Given the description of an element on the screen output the (x, y) to click on. 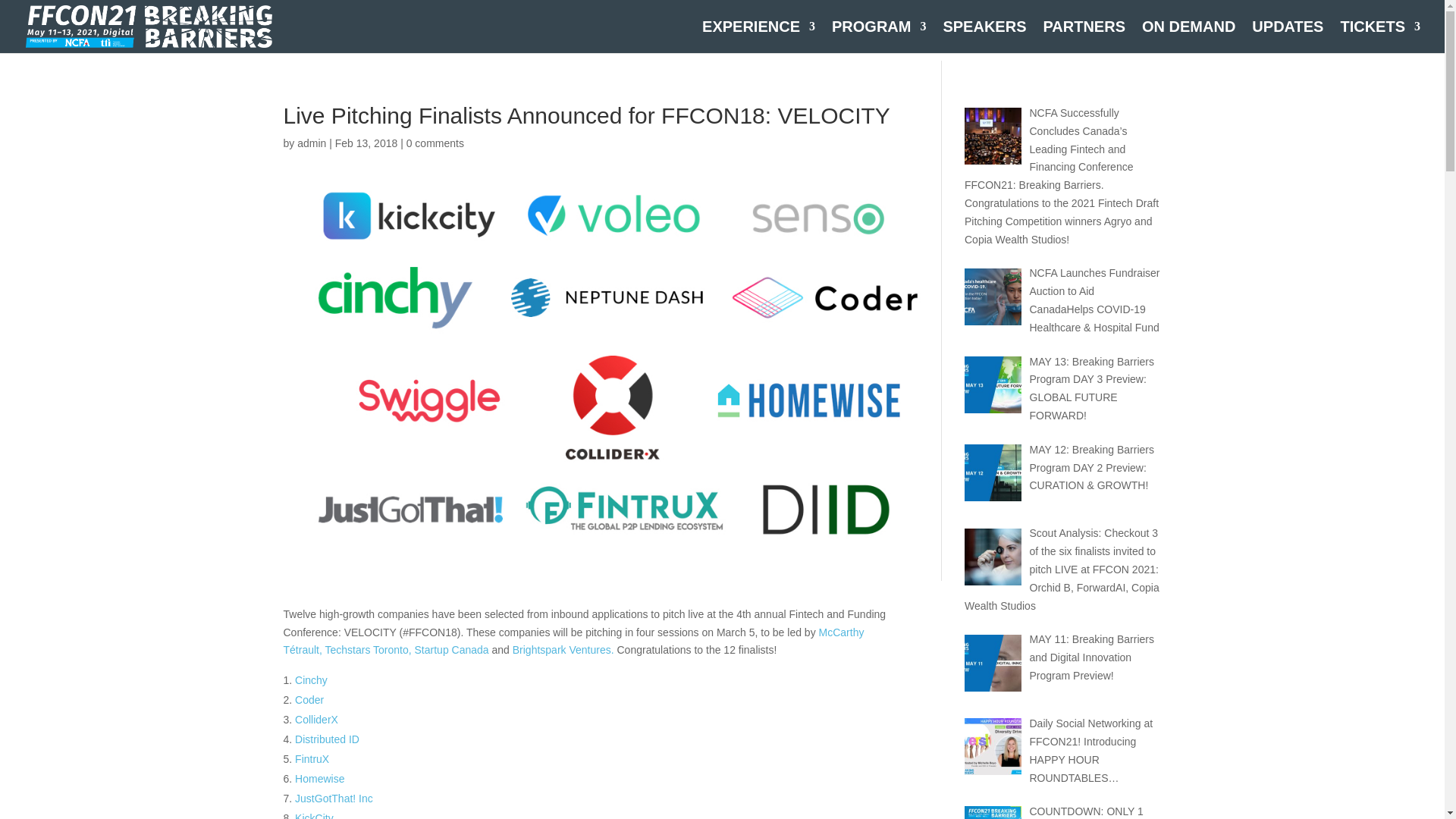
UPDATES (1287, 37)
PROGRAM (878, 37)
Cinchy (311, 680)
Brightspark Ventures. (564, 649)
0 comments (435, 143)
Techstars Toronto, (368, 649)
PARTNERS (1083, 37)
Startup Canada (451, 649)
SPEAKERS (984, 37)
EXPERIENCE (758, 37)
